Given the description of an element on the screen output the (x, y) to click on. 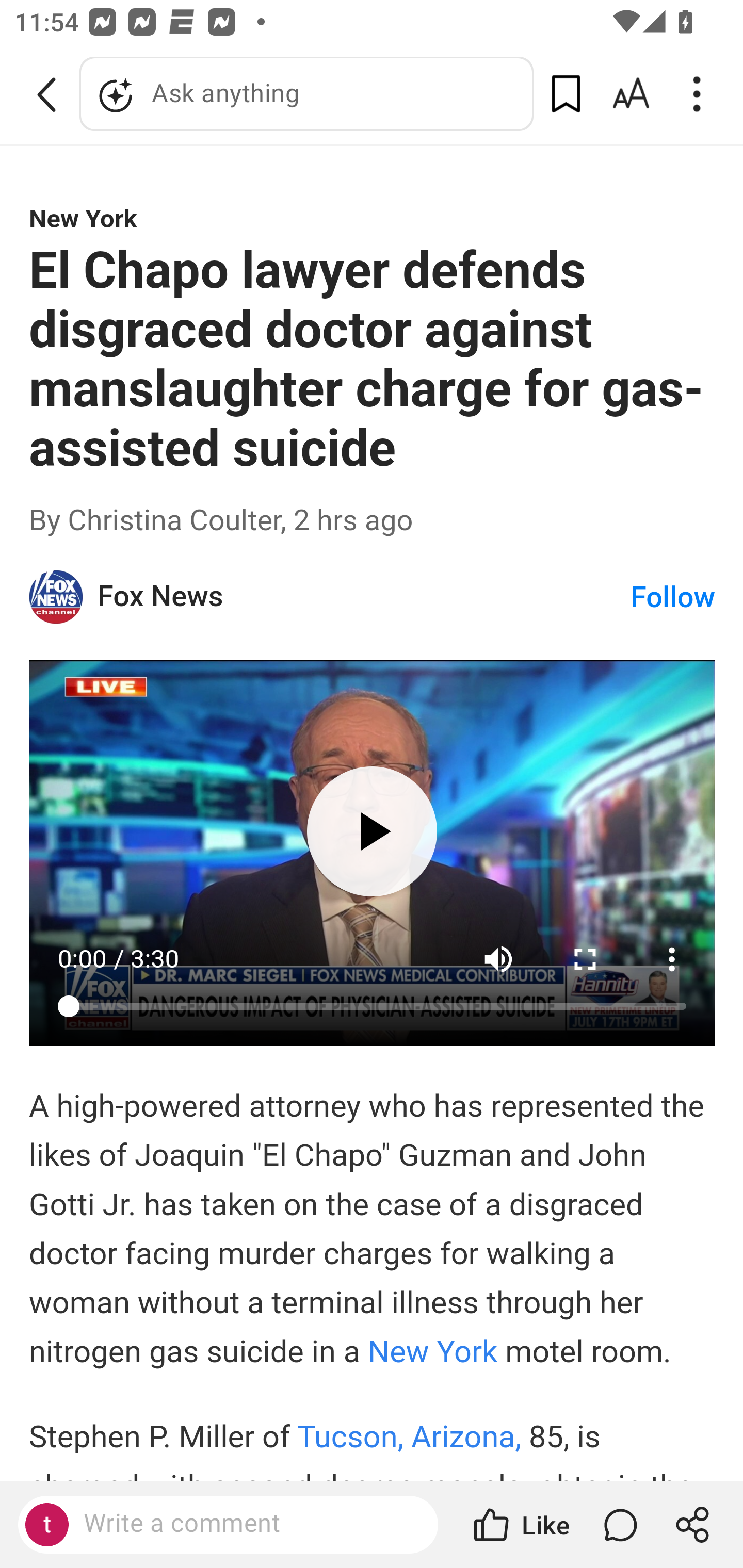
Ask anything (306, 93)
Fox (56, 596)
Fox News (364, 596)
Follow (673, 598)
play (372, 830)
mute (497, 959)
enter full screen (585, 959)
show more media controls (672, 959)
New York  (435, 1351)
Tucson, Arizona,  (413, 1436)
Like (519, 1524)
Write a comment (245, 1523)
